Given the description of an element on the screen output the (x, y) to click on. 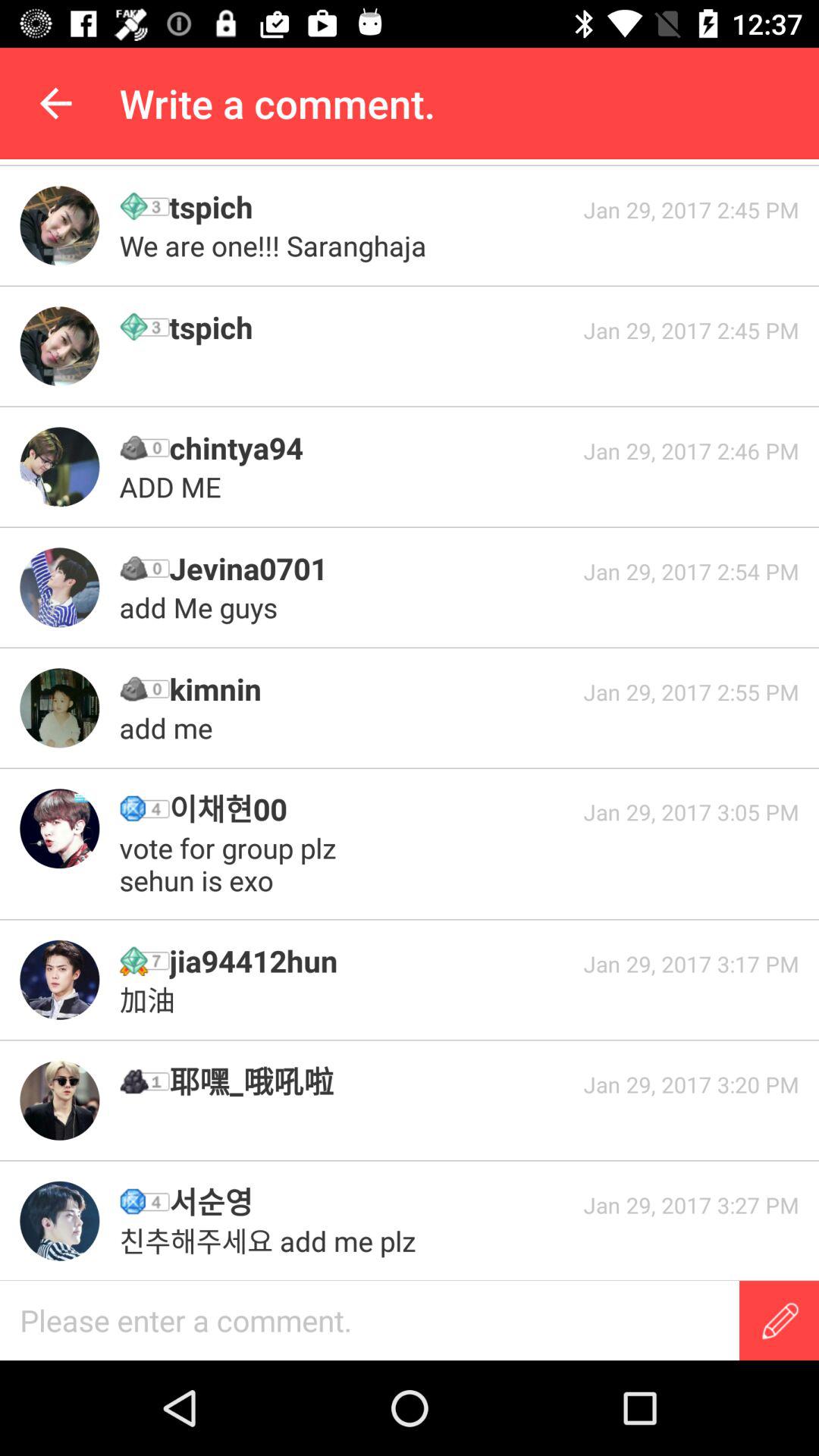
tap icon next to the jan 29 2017 icon (371, 568)
